Given the description of an element on the screen output the (x, y) to click on. 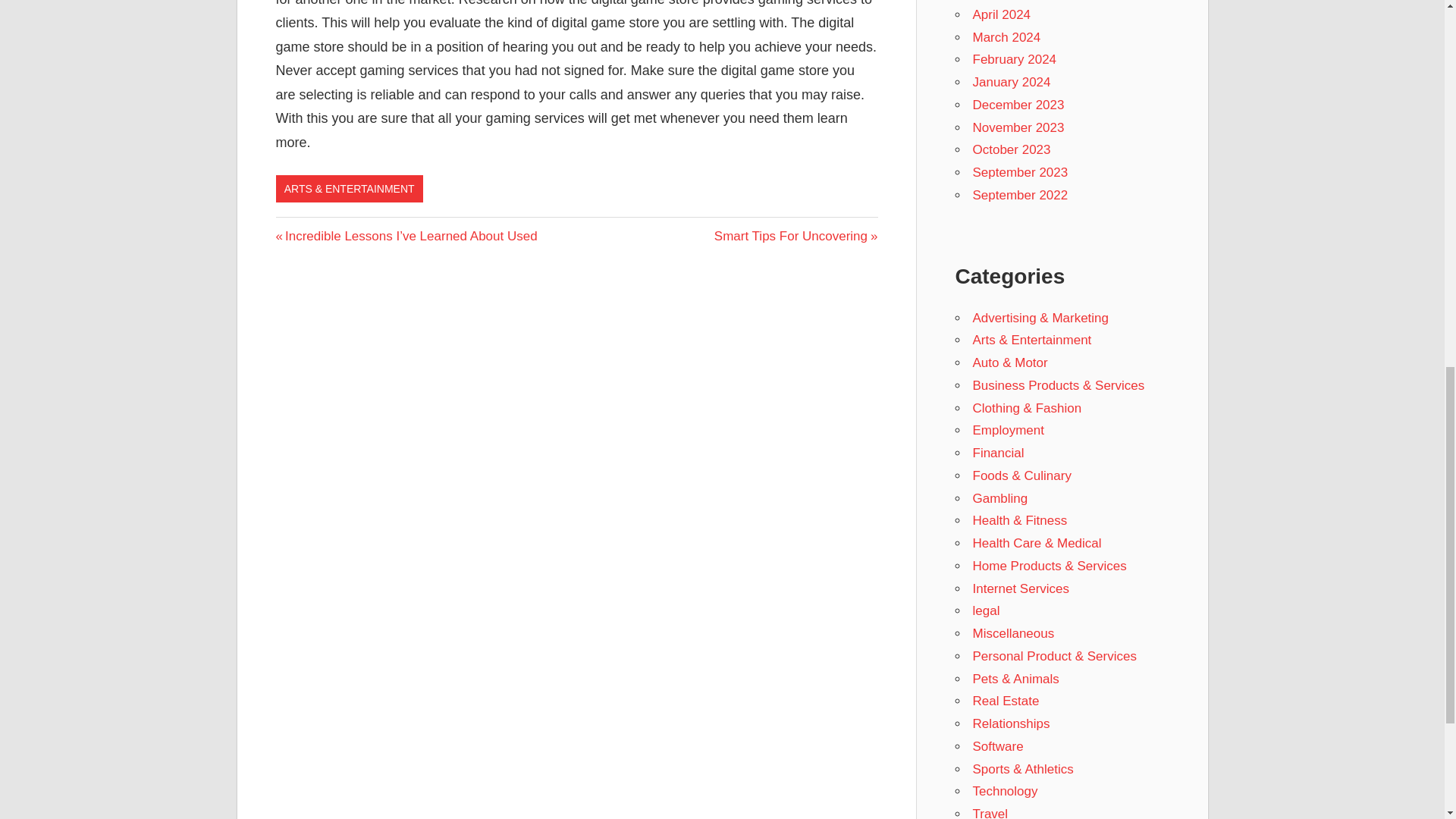
September 2023 (1019, 172)
Employment (1007, 430)
Gambling (999, 498)
October 2023 (1010, 149)
November 2023 (1018, 127)
January 2024 (1010, 82)
December 2023 (1018, 104)
March 2024 (1006, 37)
February 2024 (795, 236)
Financial (1014, 59)
Internet Services (997, 452)
September 2022 (1020, 588)
April 2024 (1019, 195)
